Given the description of an element on the screen output the (x, y) to click on. 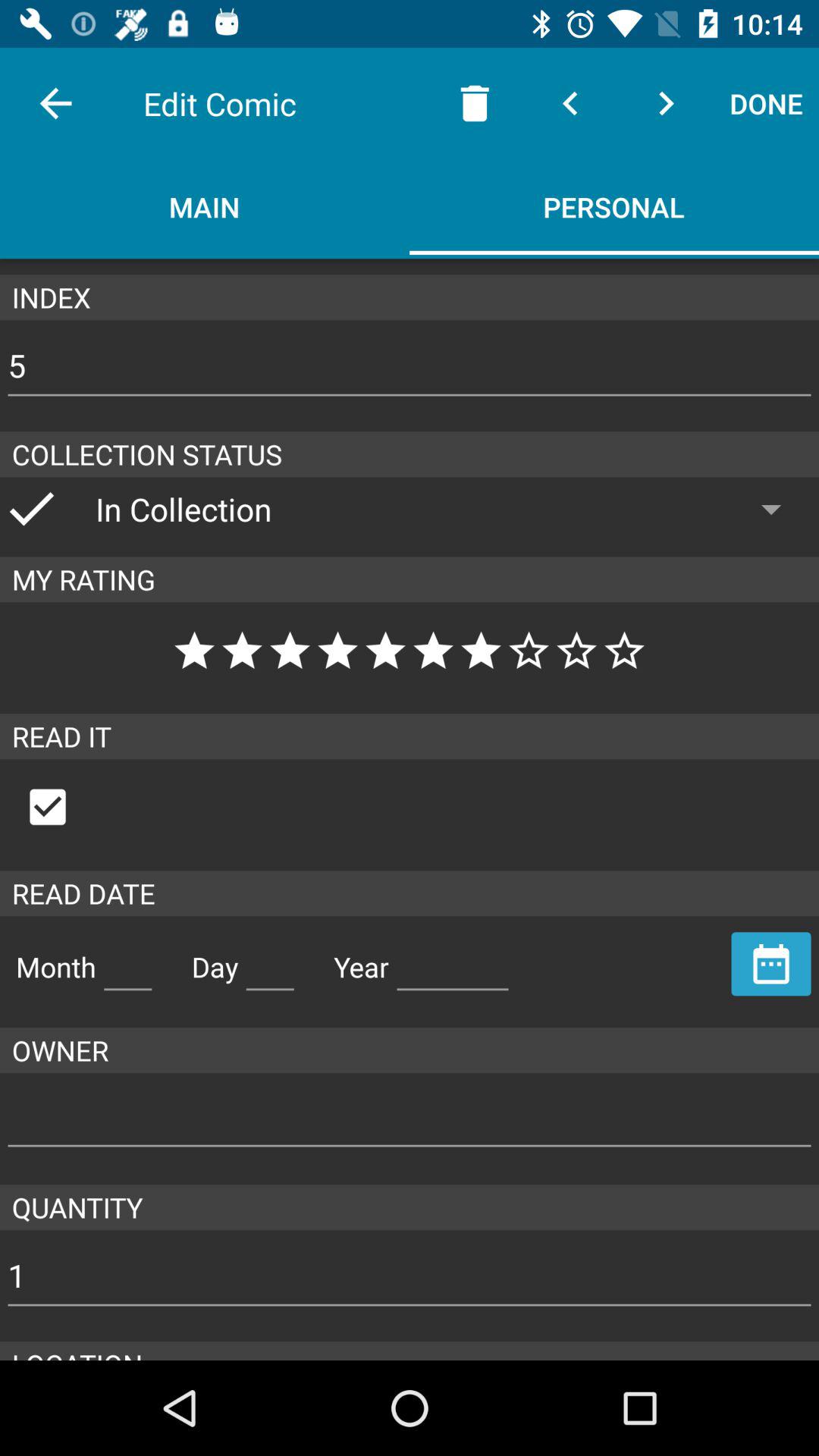
fill the blank space (127, 961)
